Given the description of an element on the screen output the (x, y) to click on. 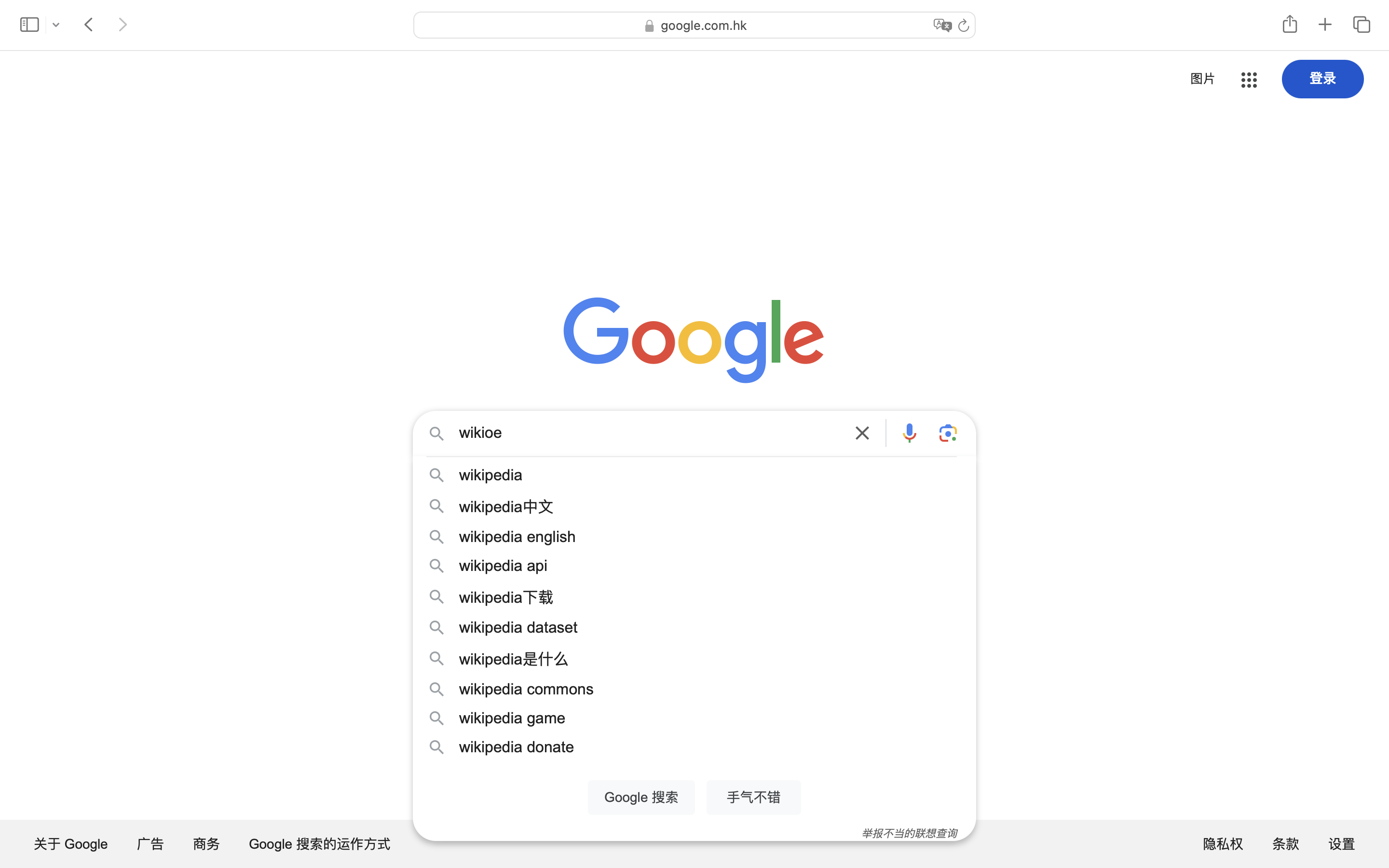
wikioe Element type: AXStaticText (480, 432)
Google 搜索的运作方式 Element type: AXStaticText (319, 843)
https://www.google.com.hk/?client=safari Element type: AXTextField (679, 30)
隐私权 Element type: AXStaticText (1222, 843)
wikioe Element type: AXComboBox (649, 433)
